Given the description of an element on the screen output the (x, y) to click on. 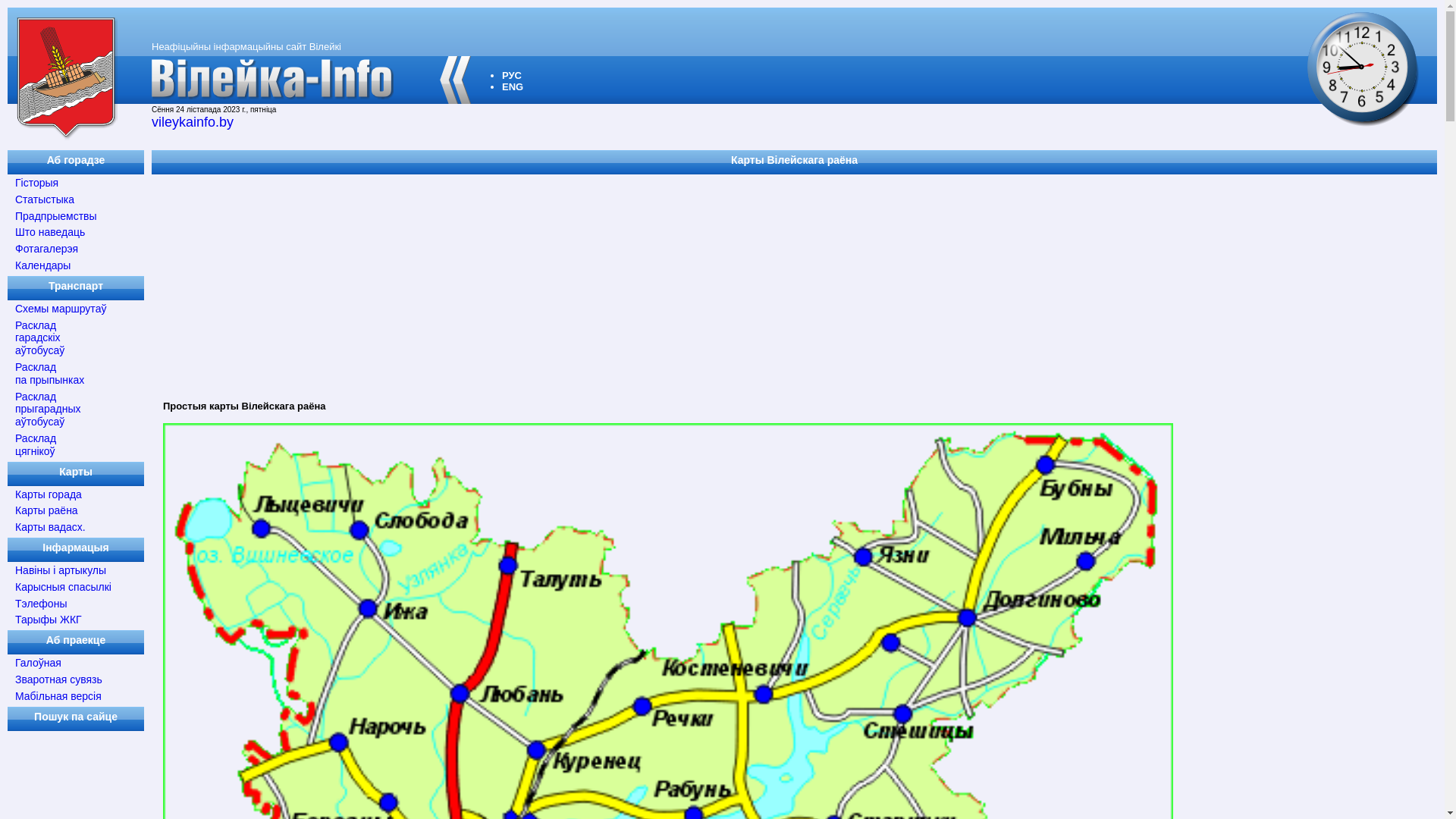
ENG Element type: text (512, 86)
Advertisement Element type: hover (606, 282)
vileykainfo.by Element type: text (192, 121)
